Given the description of an element on the screen output the (x, y) to click on. 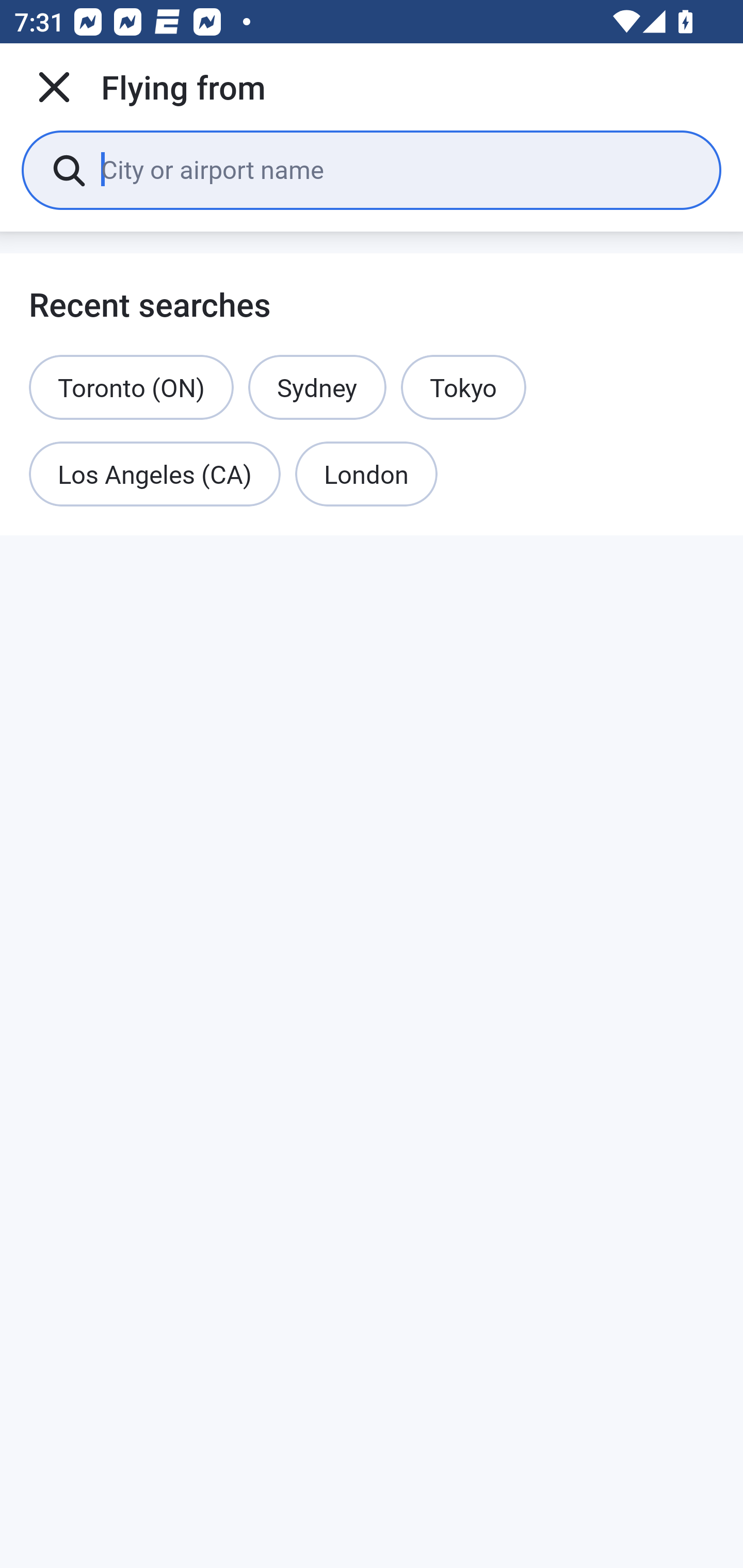
City or airport name (396, 169)
Toronto (ON) (131, 387)
Sydney (317, 387)
Tokyo (463, 387)
Los Angeles (CA) (154, 474)
London (365, 474)
